Given the description of an element on the screen output the (x, y) to click on. 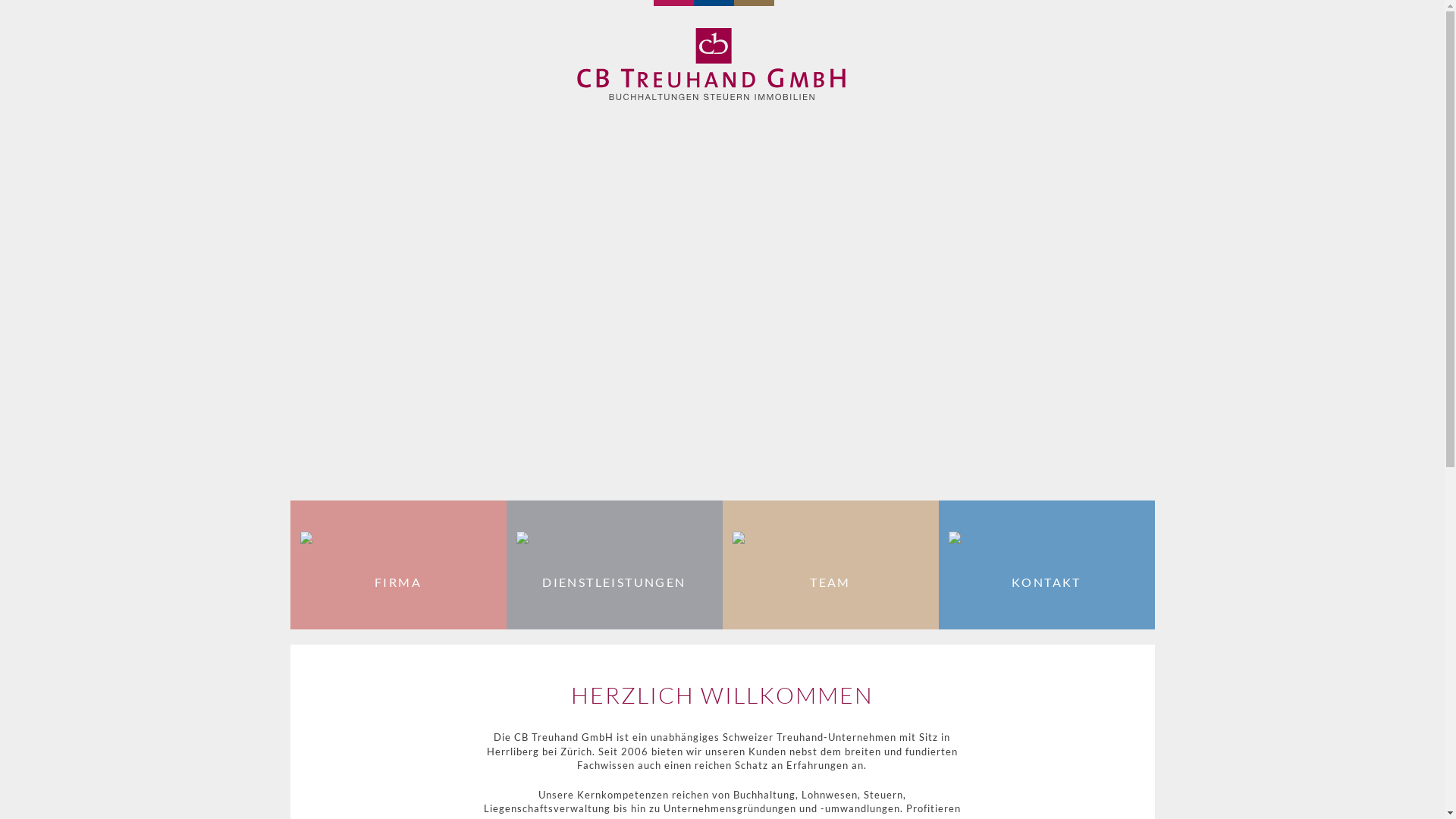
KONTAKT Element type: text (1046, 564)
DIENSTLEISTUNGEN Element type: text (614, 564)
Open navigation Element type: text (314, 34)
TEAM Element type: text (829, 564)
FIRMA Element type: text (397, 564)
